Given the description of an element on the screen output the (x, y) to click on. 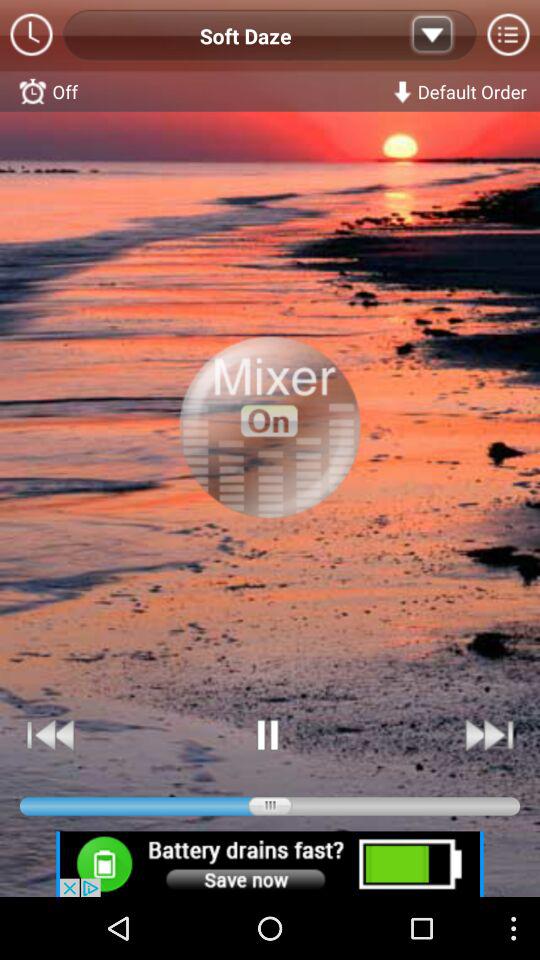
time option (31, 35)
